Given the description of an element on the screen output the (x, y) to click on. 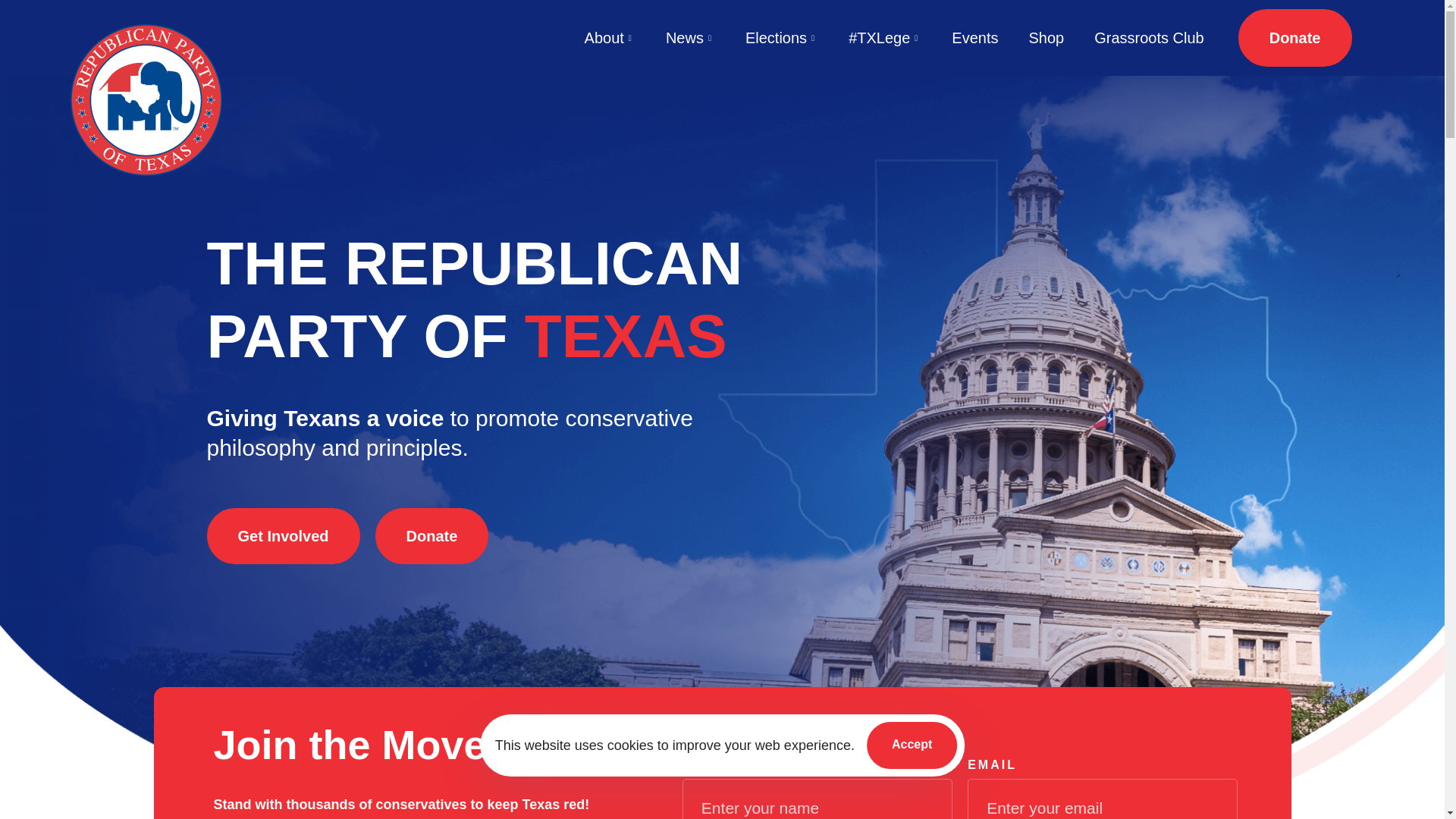
Events (974, 37)
News (690, 37)
Shop (1045, 37)
Elections (781, 37)
About (609, 37)
